Given the description of an element on the screen output the (x, y) to click on. 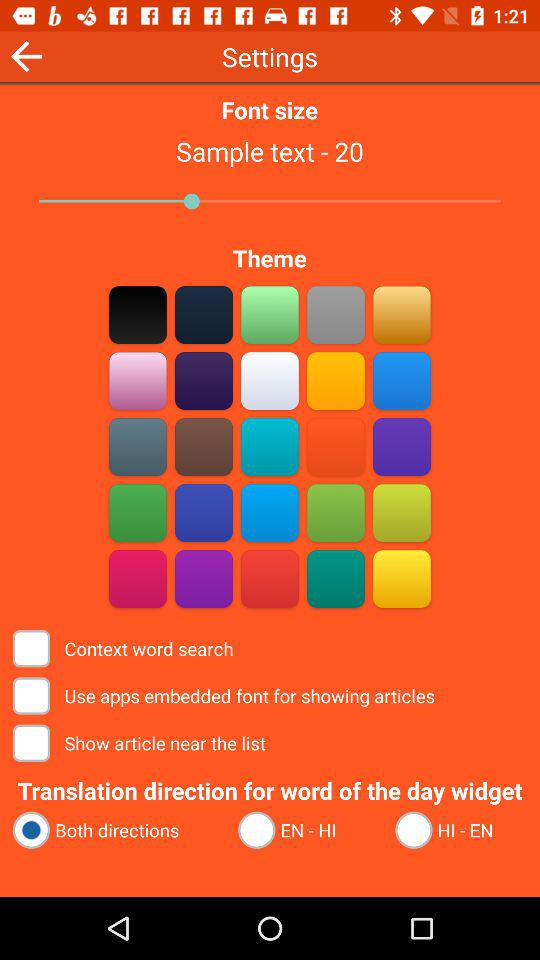
changes colors (269, 578)
